Given the description of an element on the screen output the (x, y) to click on. 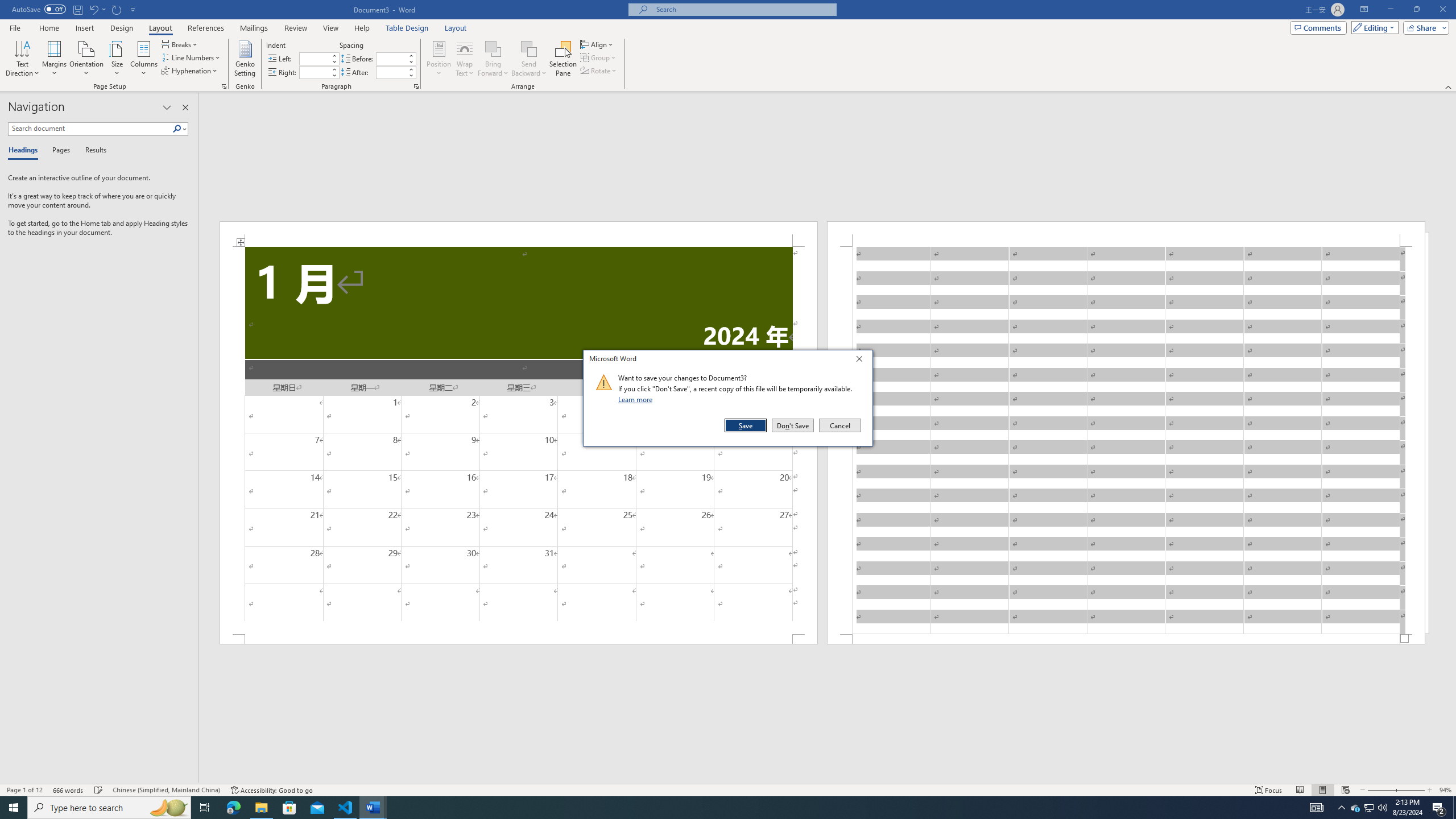
Group (599, 56)
Show desktop (1454, 807)
File Explorer - 1 running window (261, 807)
Spelling and Grammar Check Checking (98, 790)
Less (411, 75)
Start (13, 807)
